Given the description of an element on the screen output the (x, y) to click on. 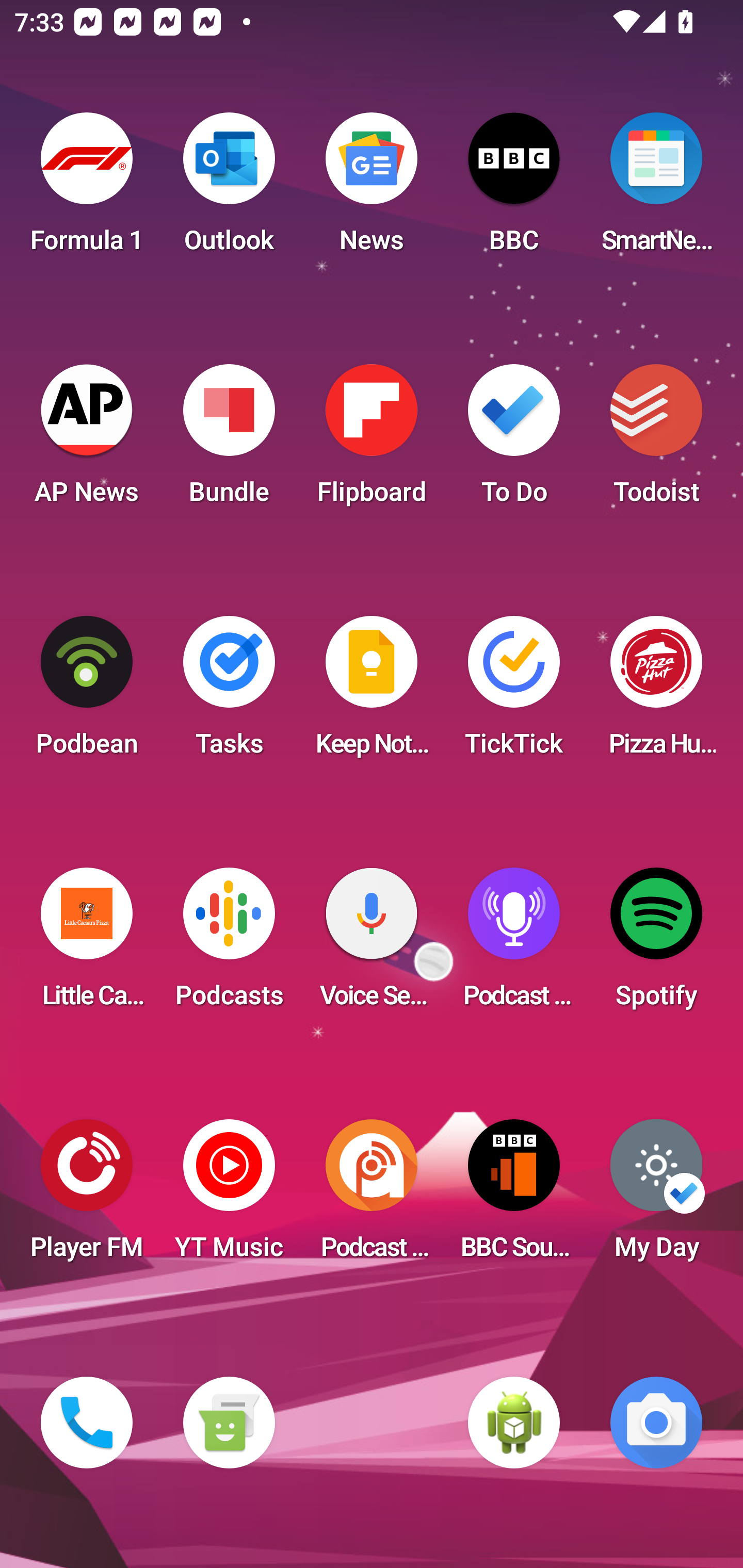
Formula 1 (86, 188)
Outlook (228, 188)
News (371, 188)
BBC (513, 188)
SmartNews (656, 188)
AP News (86, 440)
Bundle (228, 440)
Flipboard (371, 440)
To Do (513, 440)
Todoist (656, 440)
Podbean (86, 692)
Tasks (228, 692)
Keep Notes (371, 692)
TickTick (513, 692)
Pizza Hut HK & Macau (656, 692)
Little Caesars Pizza (86, 943)
Podcasts (228, 943)
Voice Search (371, 943)
Podcast Player (513, 943)
Spotify (656, 943)
Player FM (86, 1195)
YT Music (228, 1195)
Podcast Addict (371, 1195)
BBC Sounds (513, 1195)
My Day (656, 1195)
Phone (86, 1422)
Messaging (228, 1422)
WebView Browser Tester (513, 1422)
Camera (656, 1422)
